Given the description of an element on the screen output the (x, y) to click on. 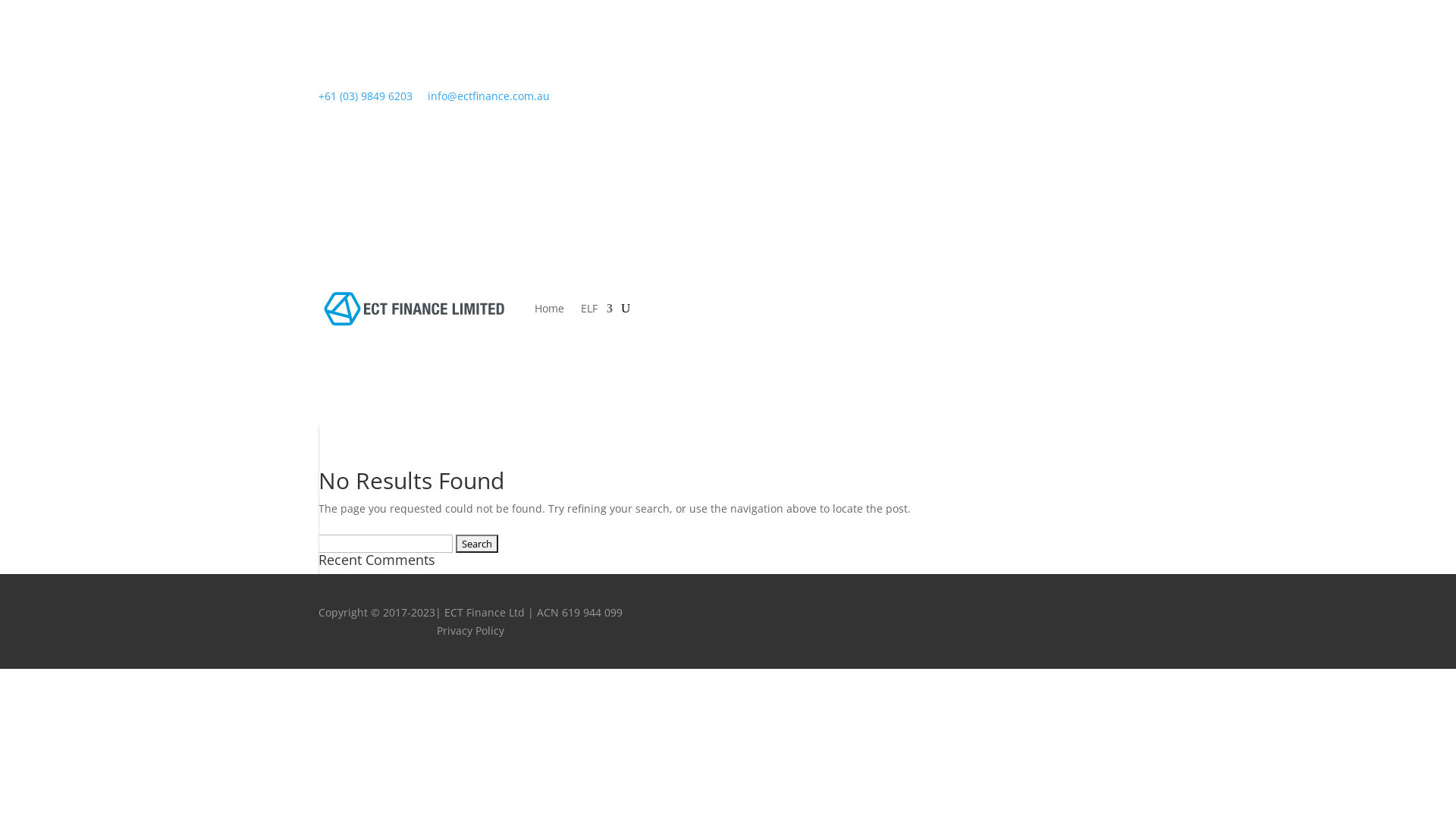
Home Element type: text (549, 308)
+61 (03) 9849 6203 Element type: text (365, 95)
info@ectfinance.com.au Element type: text (488, 95)
Search Element type: text (476, 543)
ELF Element type: text (596, 308)
